Given the description of an element on the screen output the (x, y) to click on. 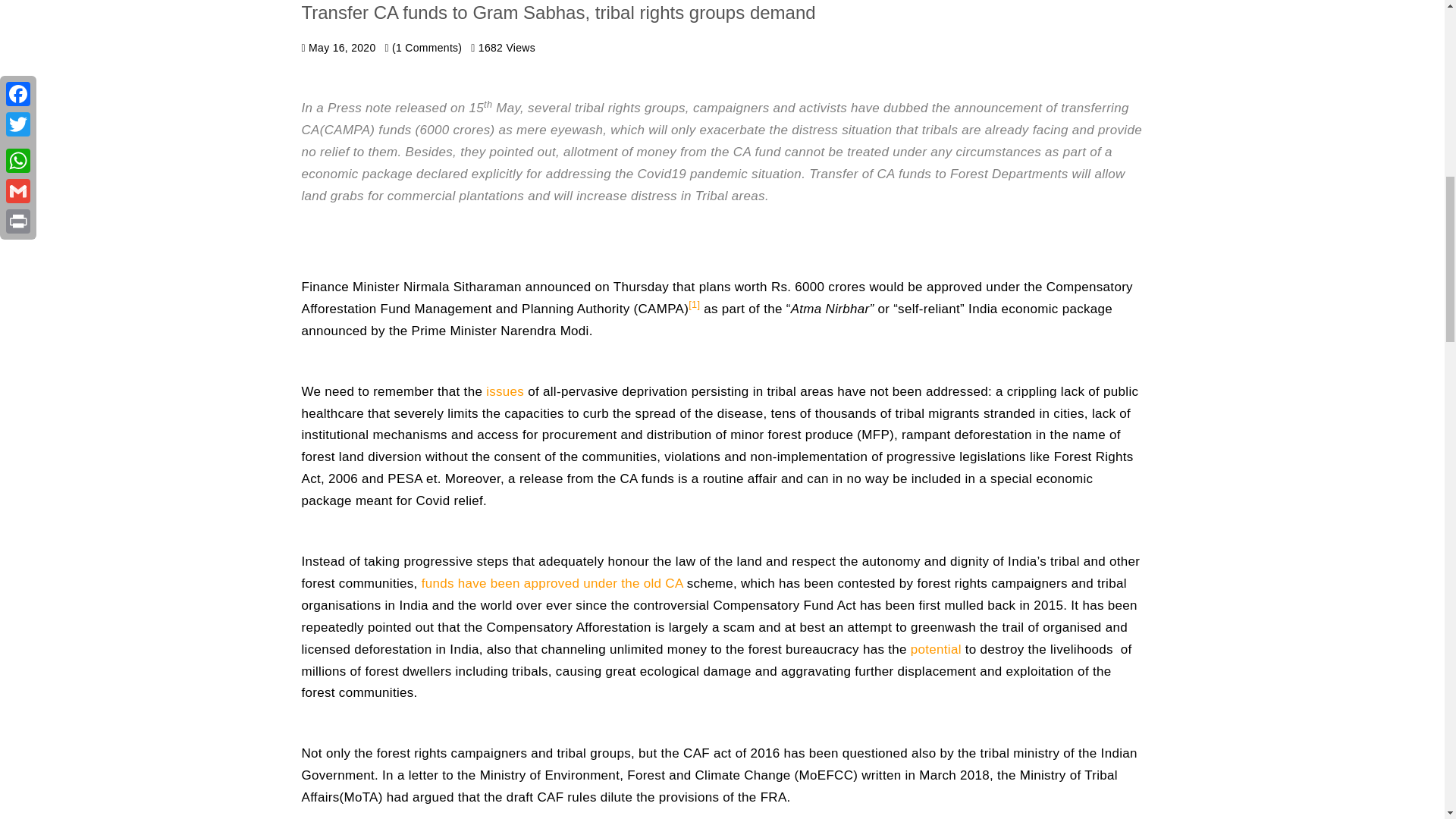
potentia (934, 649)
issues (505, 391)
 funds have been approved under the old CA (549, 583)
